Given the description of an element on the screen output the (x, y) to click on. 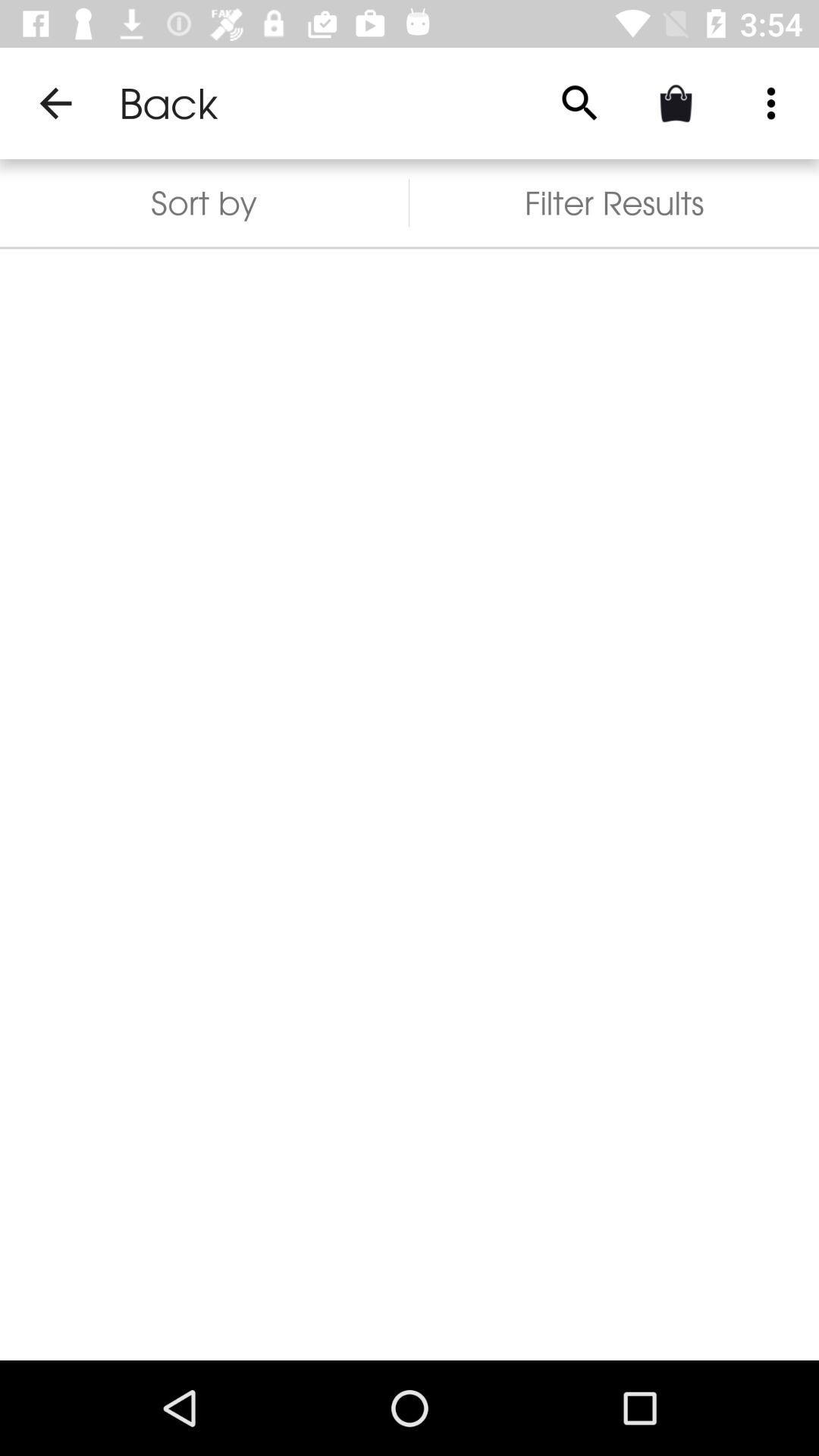
launch icon to the right of the sort by (579, 103)
